Given the description of an element on the screen output the (x, y) to click on. 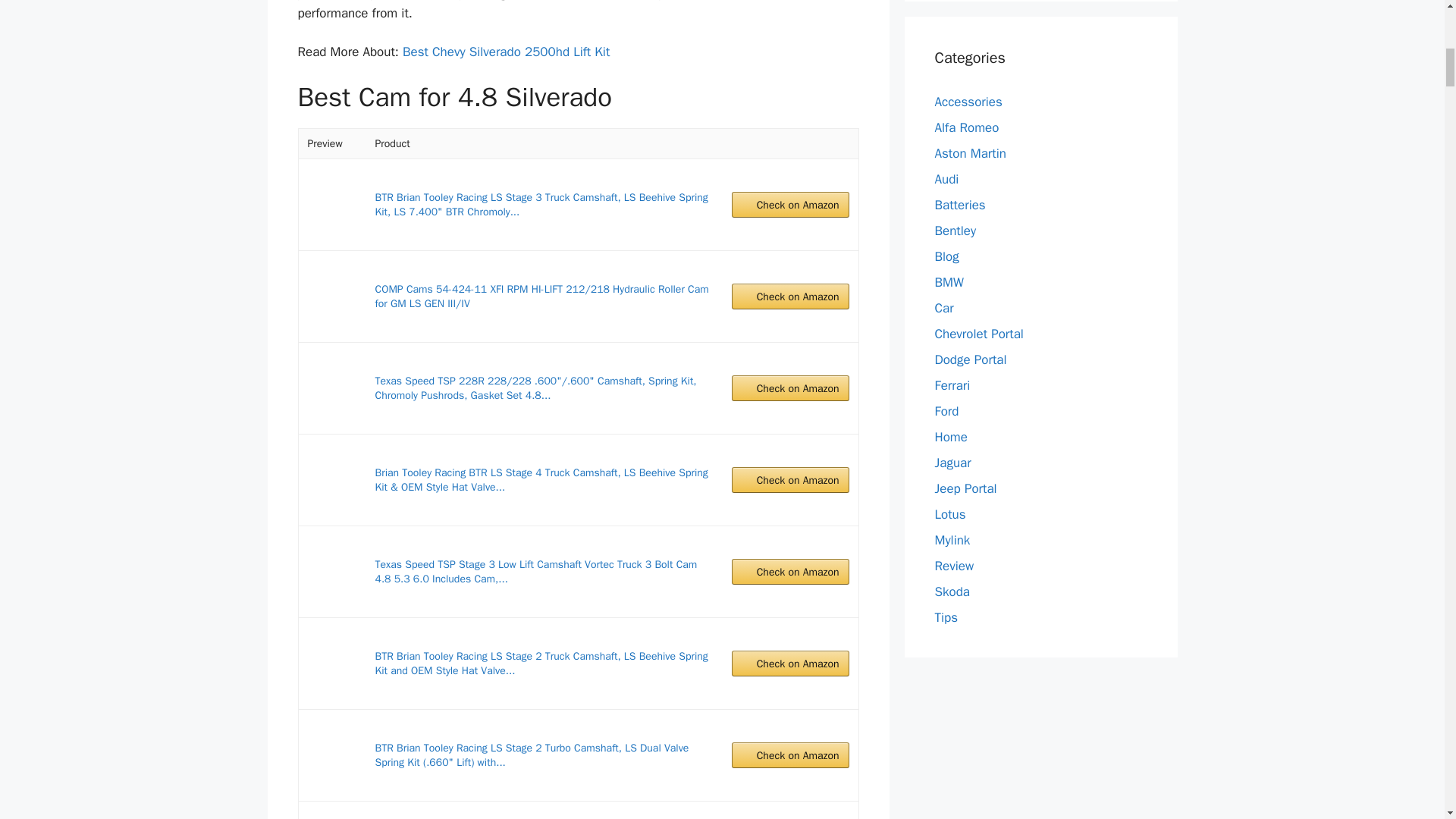
Best Chevy Silverado 2500hd Lift Kit (506, 51)
Check on Amazon (790, 204)
Check on Amazon (790, 296)
Check on Amazon (790, 663)
Check on Amazon (790, 388)
Check on Amazon (790, 479)
Check on Amazon (790, 571)
